Given the description of an element on the screen output the (x, y) to click on. 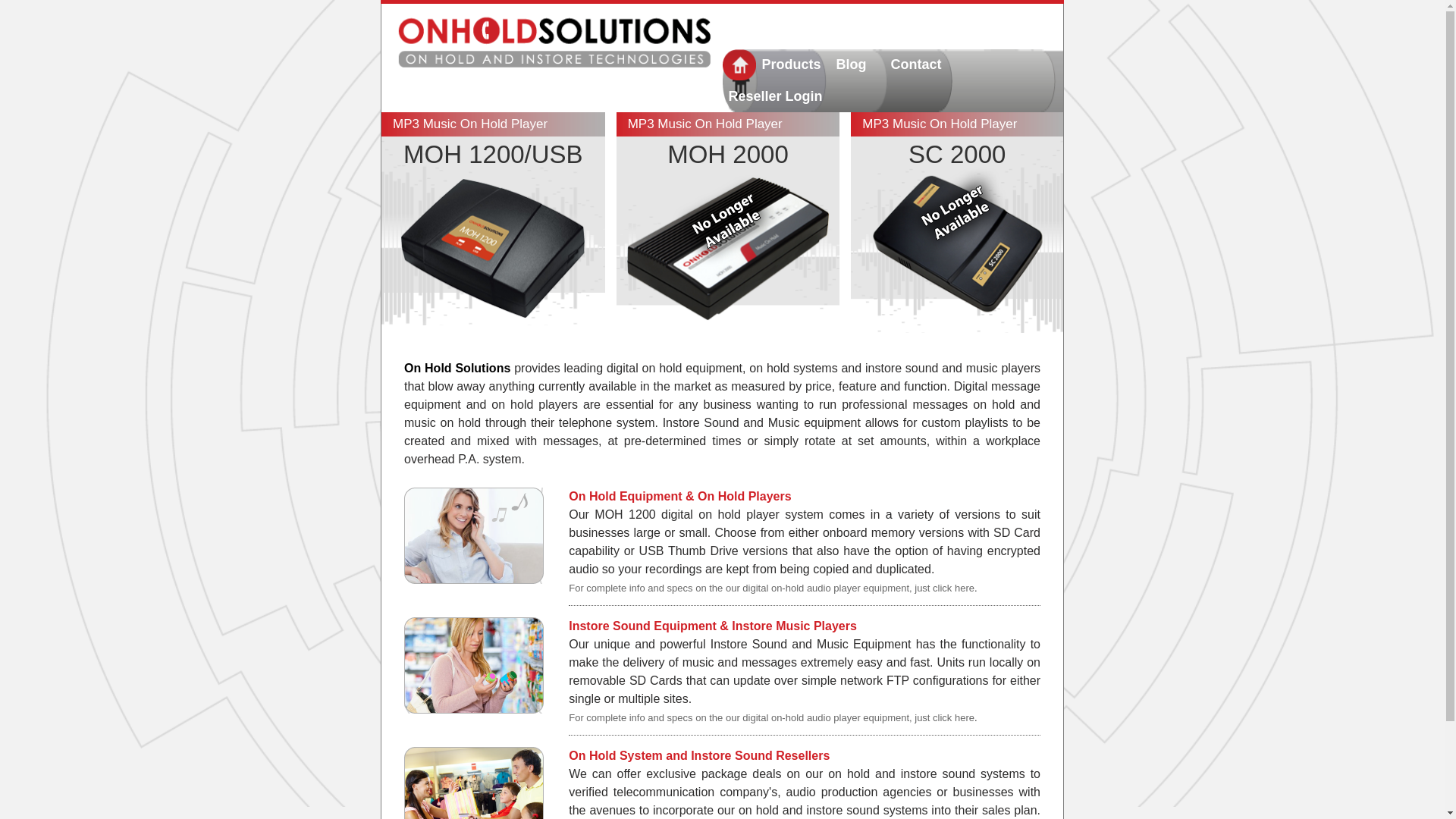
Blog Element type: text (857, 65)
MOH 1200/USB Element type: text (493, 154)
Home Element type: hover (551, 45)
SC 2000 Element type: text (956, 154)
Contact Element type: text (917, 65)
Products Element type: text (792, 65)
MOH 2000 Element type: text (727, 154)
  Element type: text (738, 64)
Reseller Login Element type: text (776, 96)
